Given the description of an element on the screen output the (x, y) to click on. 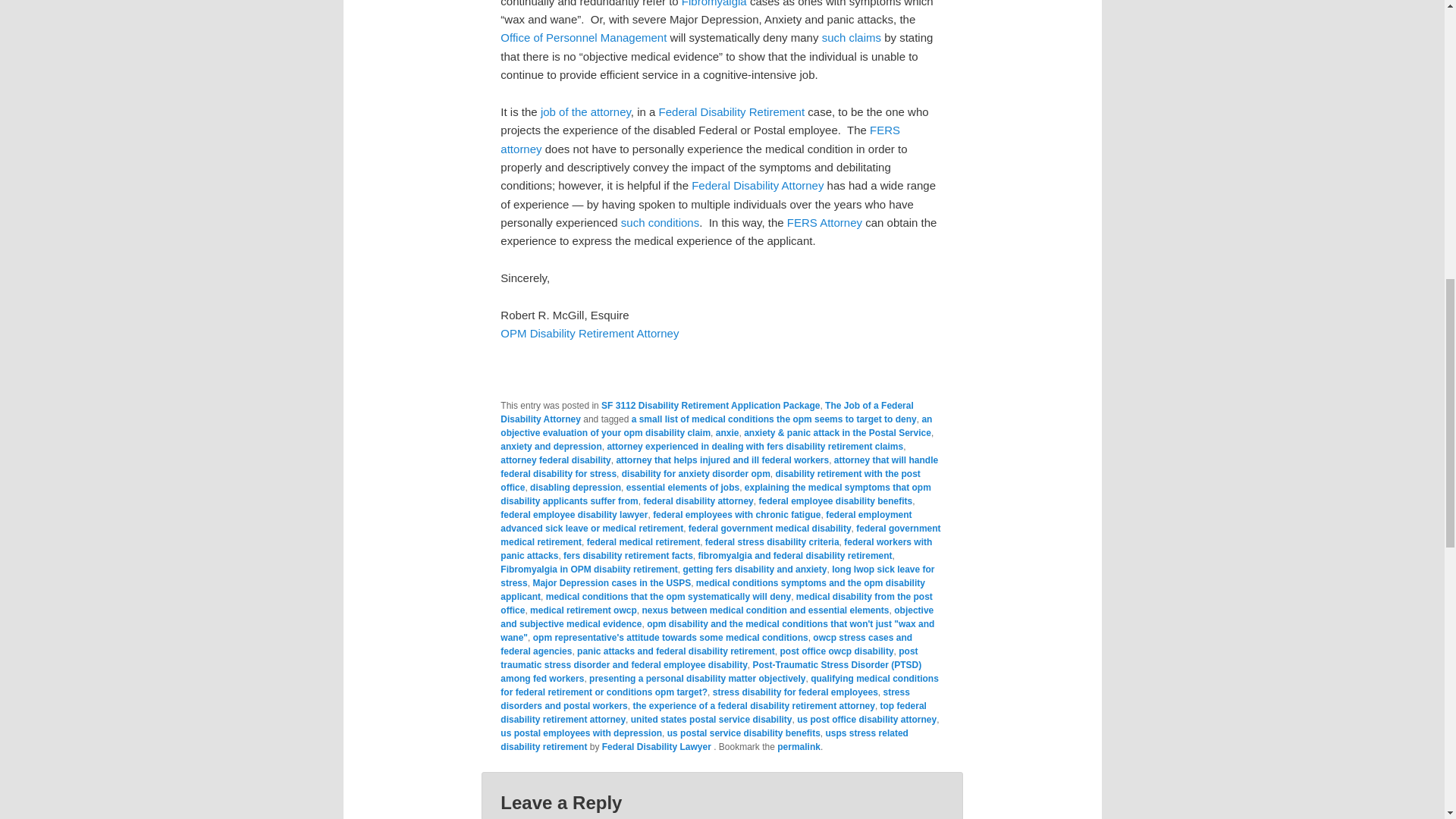
FERS attorney (699, 138)
anxie (727, 432)
More about the author (757, 185)
disability for anxiety disorder opm (695, 473)
FAQ about OPM FERS Disability Retirement (733, 111)
Federal Disability Attorney (757, 185)
essential elements of jobs (682, 487)
such conditions (659, 222)
The Job of a Federal Disability Attorney (706, 412)
such claims (851, 37)
